Given the description of an element on the screen output the (x, y) to click on. 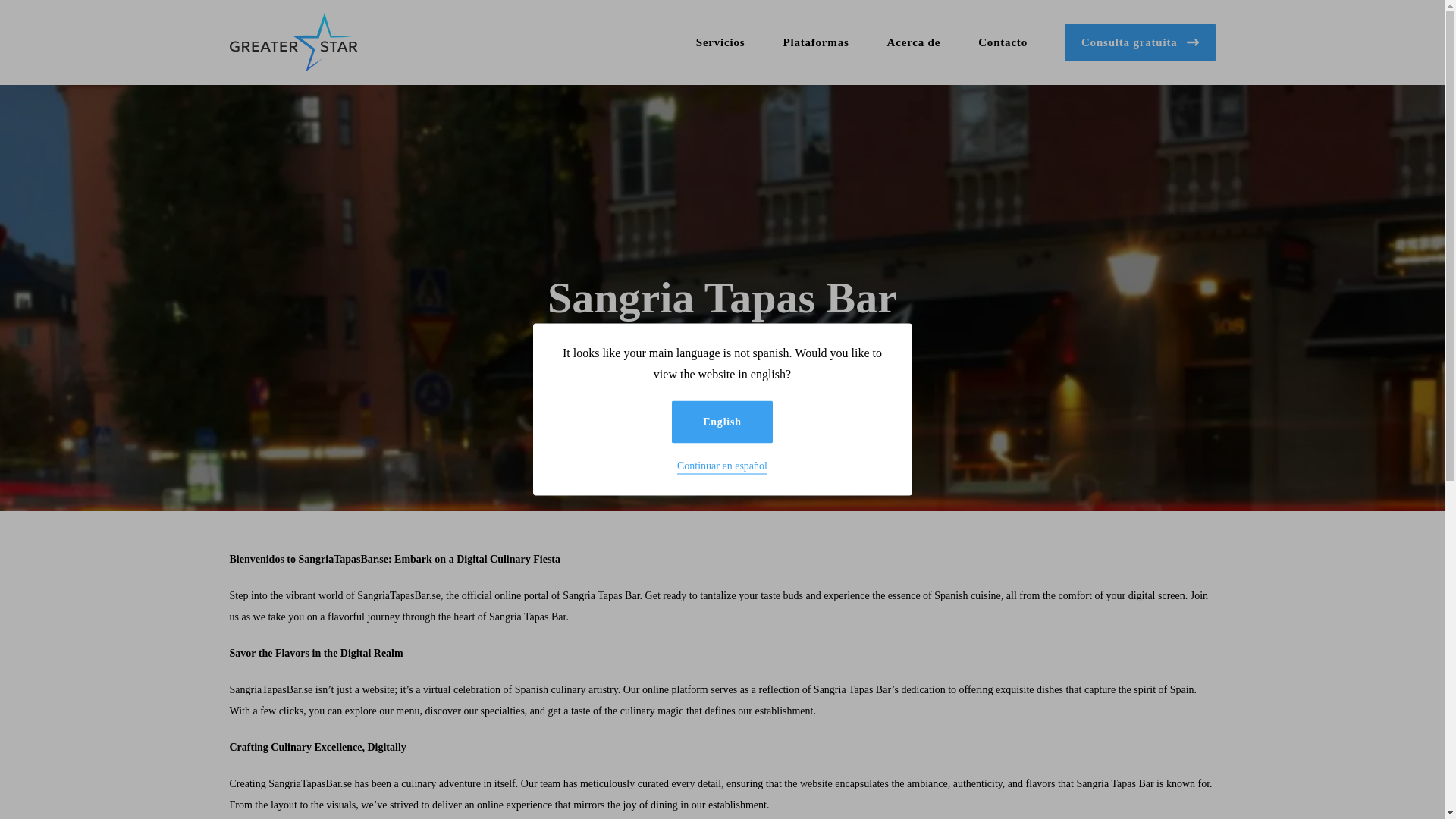
Plataformas (814, 42)
Acerca de (913, 42)
Contacto (1002, 42)
Consulta gratuita (1139, 42)
Go to startpage (298, 42)
Servicios (720, 42)
